Given the description of an element on the screen output the (x, y) to click on. 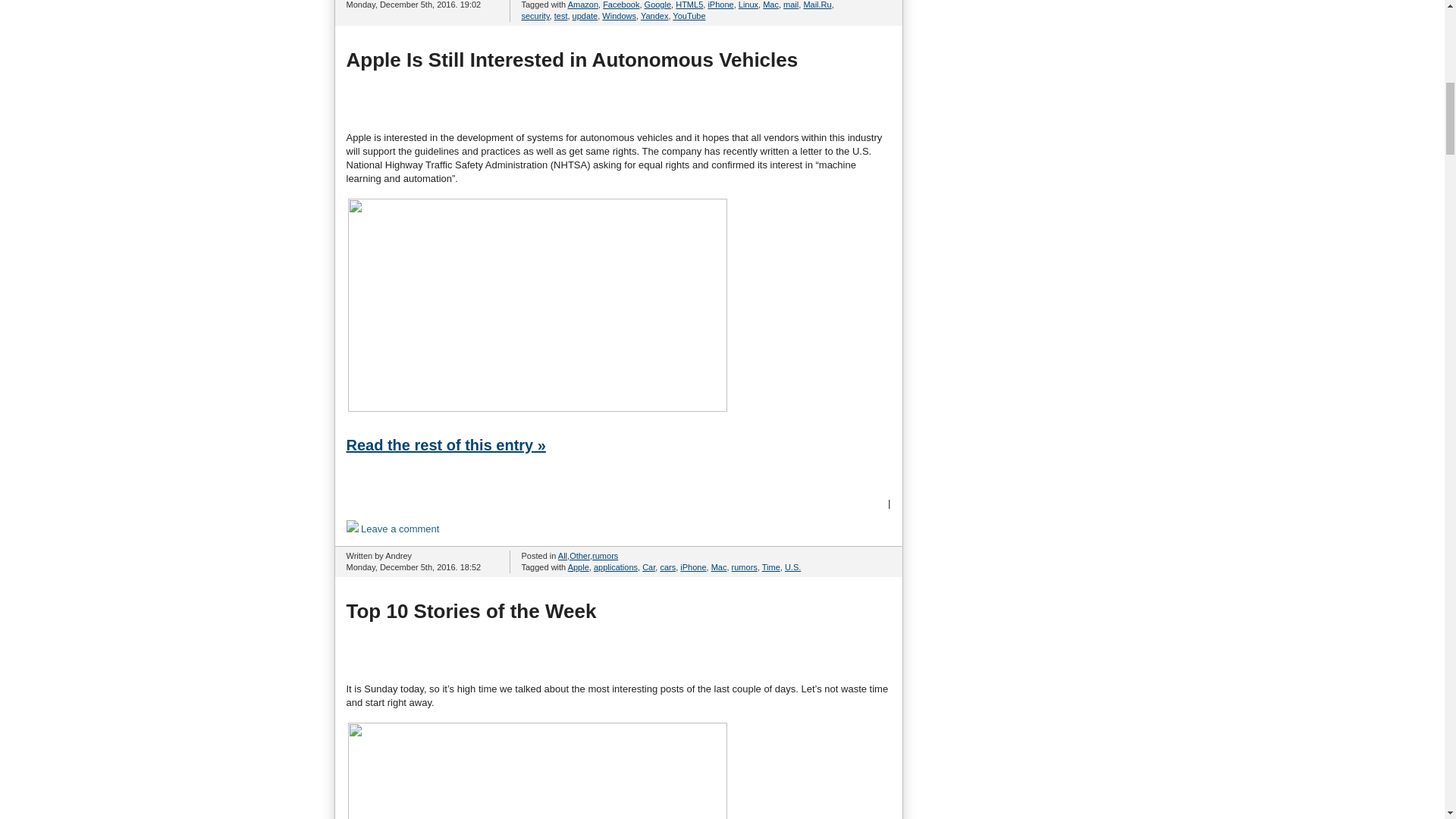
Windows (619, 15)
YouTube (688, 15)
View all posts in rumors (604, 555)
Mail.Ru (817, 4)
test (560, 15)
Google (658, 4)
View all posts in All (562, 555)
Yandex (654, 15)
update (585, 15)
Facebook (620, 4)
Amazon (582, 4)
HTML5 (689, 4)
iPhone (720, 4)
View all posts in Other (579, 555)
security (535, 15)
